Given the description of an element on the screen output the (x, y) to click on. 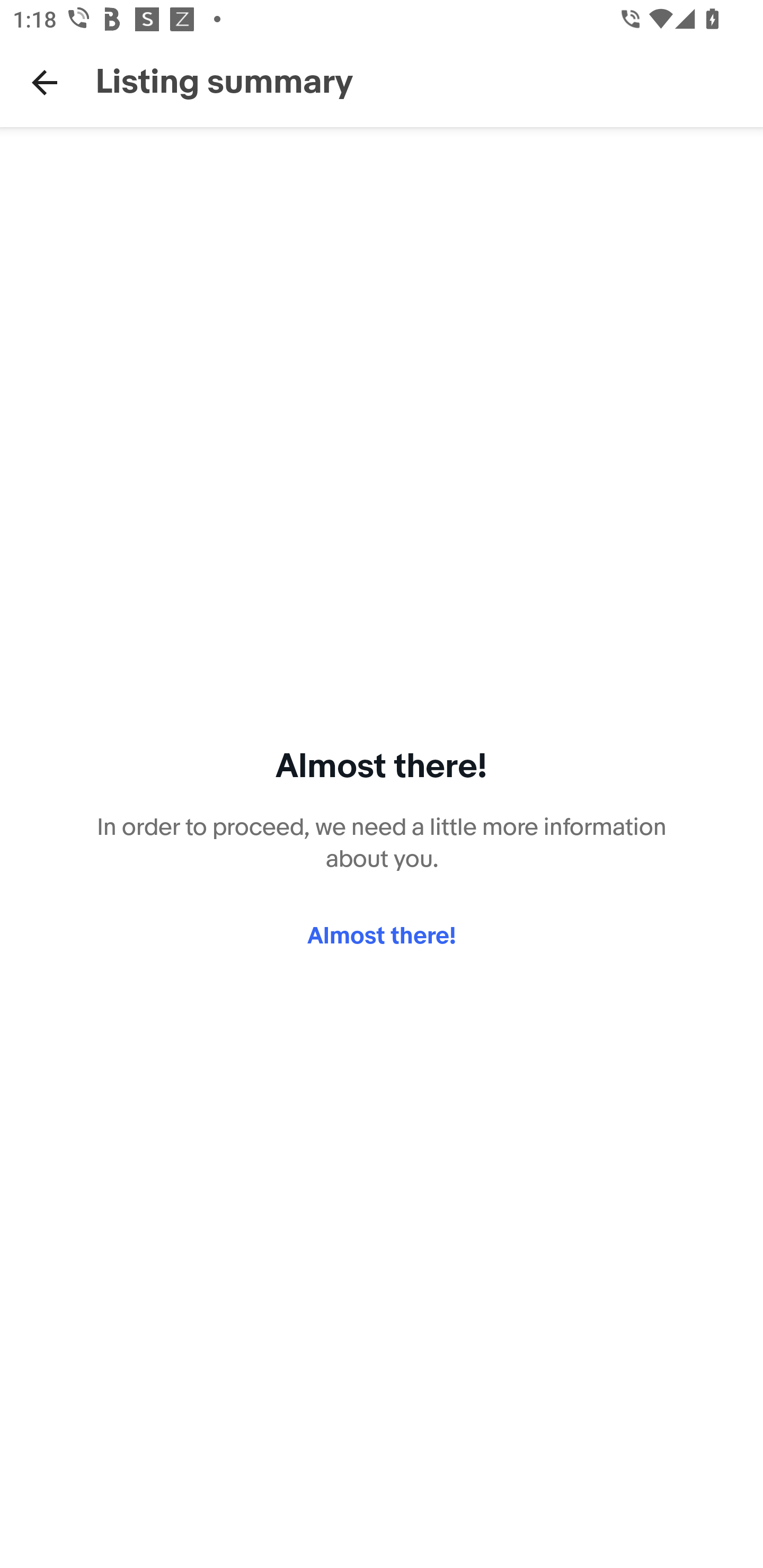
Navigate up (44, 82)
Almost there! (381, 936)
